Given the description of an element on the screen output the (x, y) to click on. 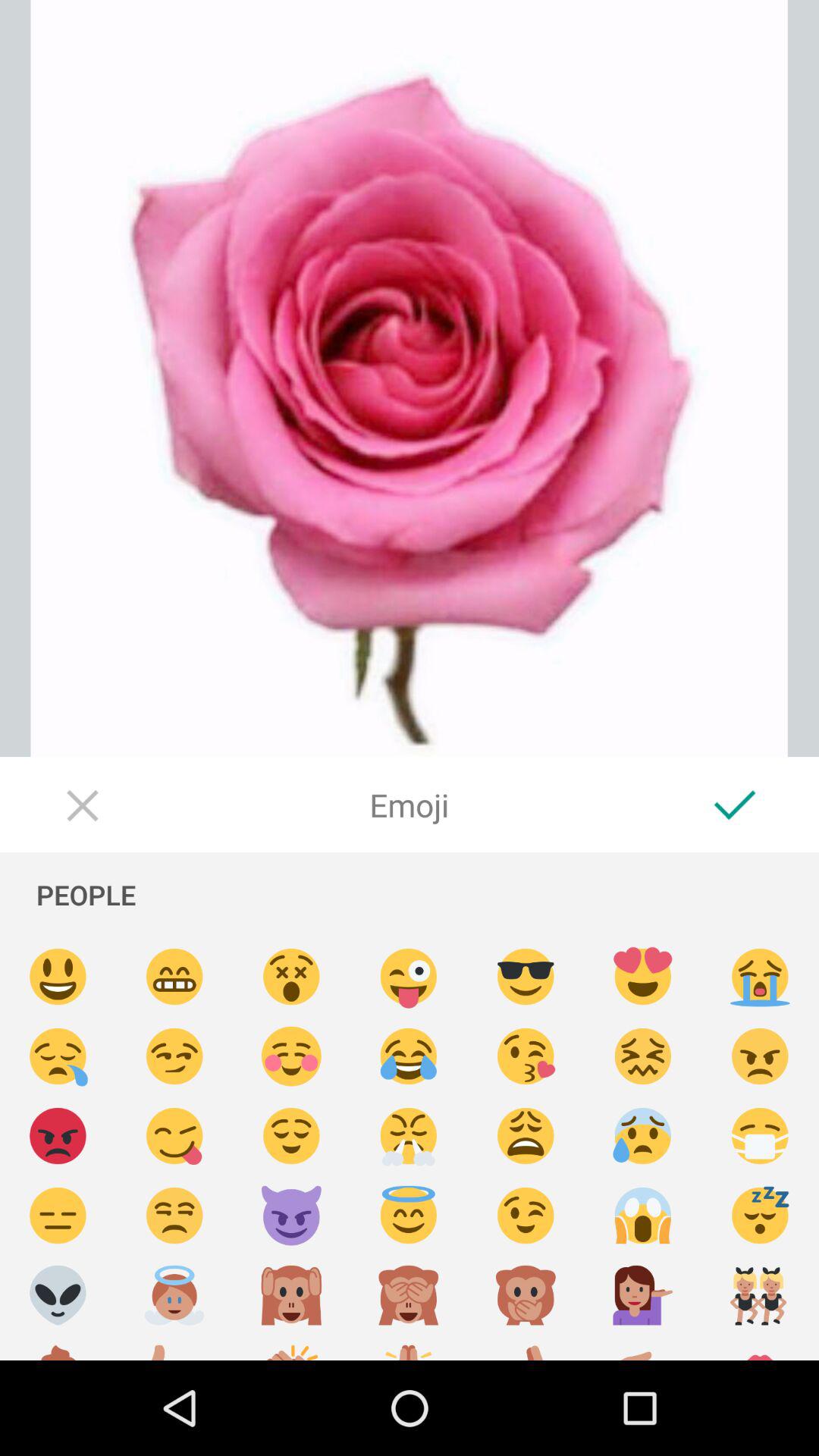
add a winking emoji (525, 1215)
